Given the description of an element on the screen output the (x, y) to click on. 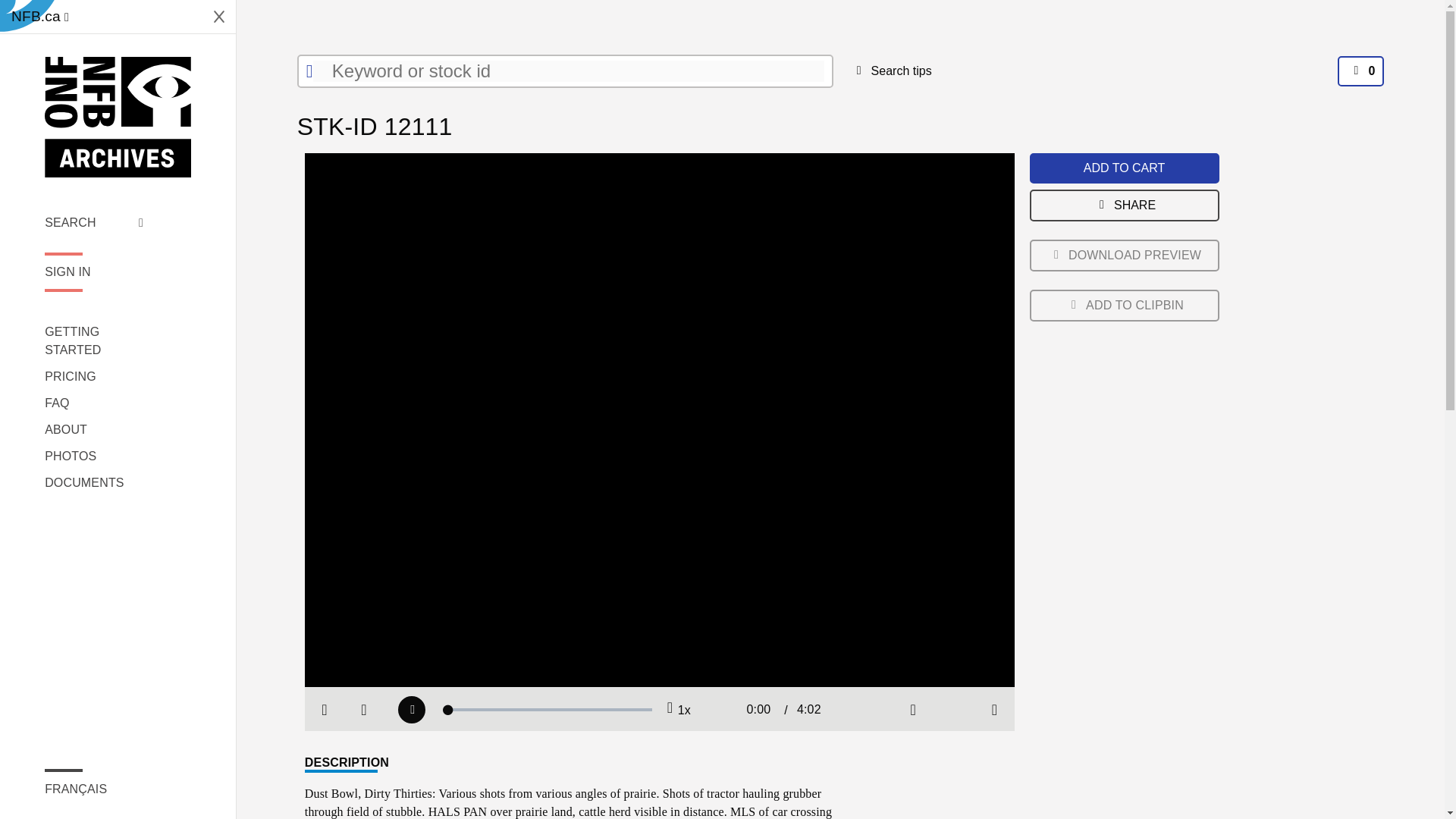
Full Screen (994, 710)
Mute (912, 710)
Watch films on NFB.ca (39, 16)
Mute (912, 710)
Restart from beginning (324, 710)
Full Screen (994, 710)
Seek backward 10 seconds (363, 710)
Playback Rate (678, 709)
GETTING STARTED (93, 340)
NFB.ca (39, 16)
SIGN IN (93, 271)
National Film Board of Canada (117, 116)
PRICING (93, 376)
DOCUMENTS (93, 483)
Playback Rate (678, 709)
